Given the description of an element on the screen output the (x, y) to click on. 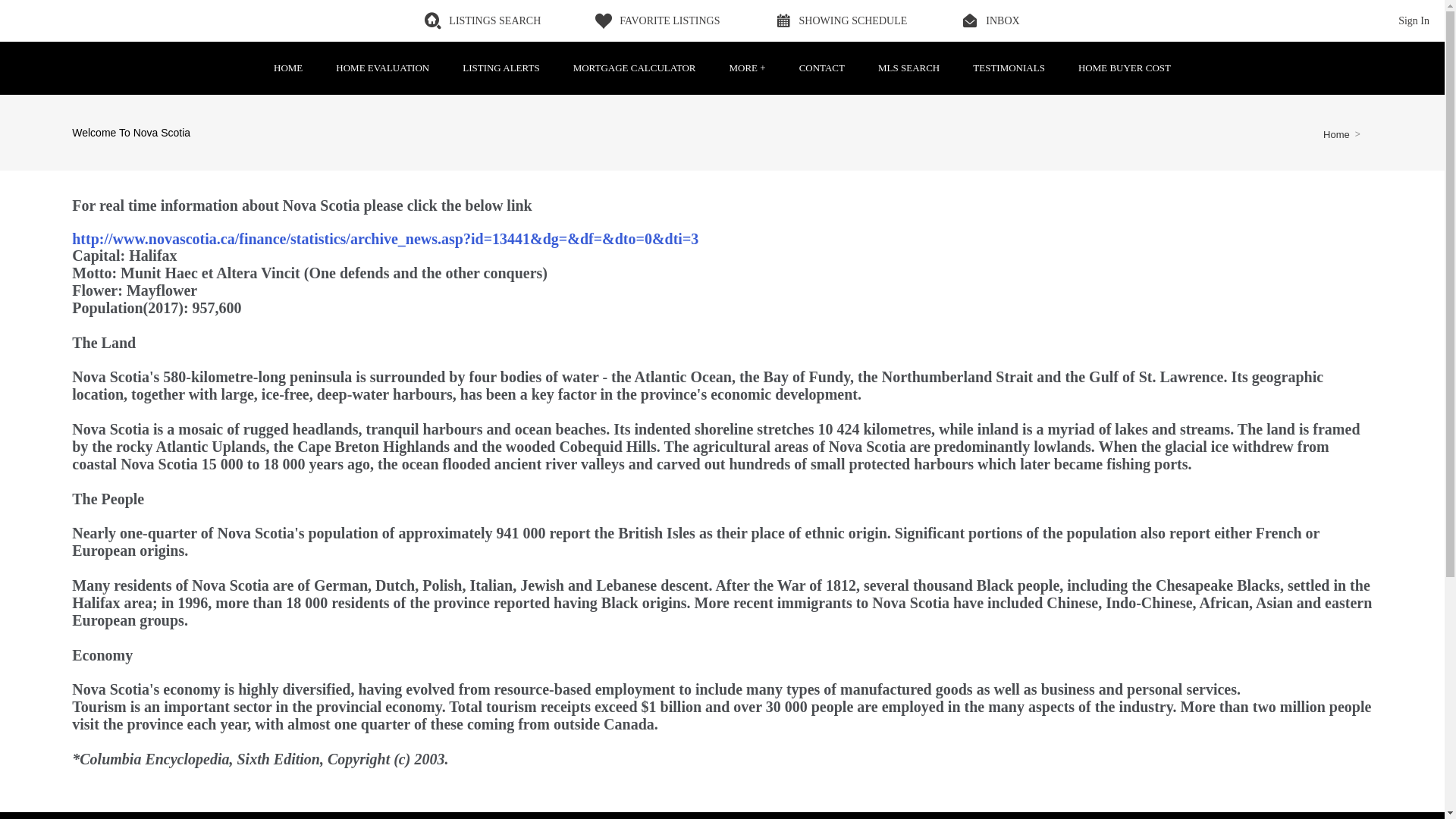
CONTACT (822, 68)
INBOX (989, 20)
Home Evaluation (381, 68)
TESTIMONIALS (1008, 68)
Contact (822, 68)
LISTING ALERTS (500, 68)
HOME (287, 68)
FAVORITE LISTINGS (657, 20)
MLS SEARCH (908, 68)
SHOWING SCHEDULE (840, 20)
Home Buyer Cost (1124, 68)
LISTINGS SEARCH (482, 20)
Home (1336, 134)
MORTGAGE CALCULATOR (634, 68)
Favorite Listings (657, 20)
